Given the description of an element on the screen output the (x, y) to click on. 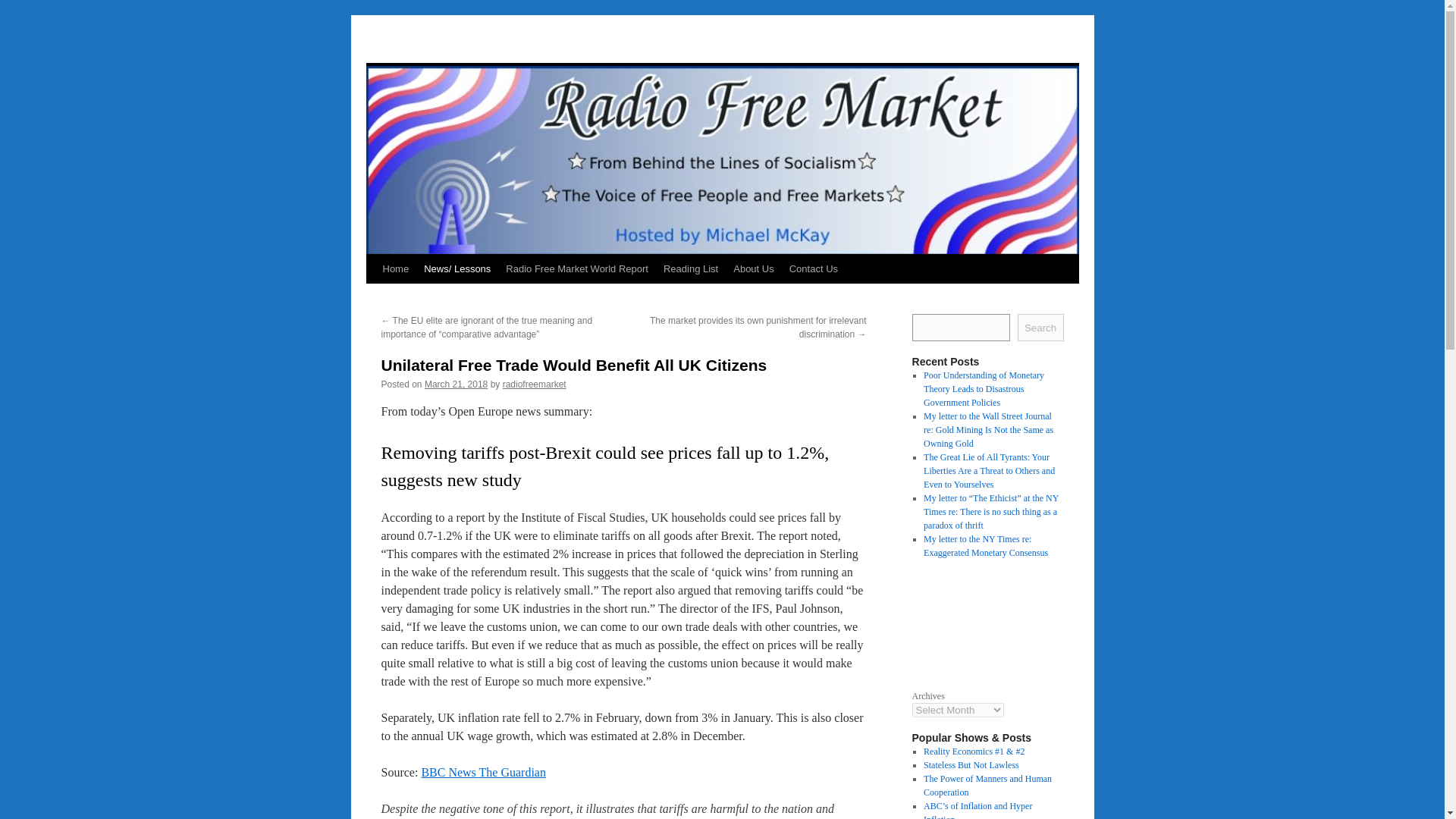
Stateless But Not Lawless (971, 765)
My letter to the NY Times re: Exaggerated Monetary Consensus (985, 545)
fb:page Facebook Social Plugin (986, 622)
March 21, 2018 (456, 384)
BBC News  (449, 771)
Search (1040, 327)
The Power of Manners and Human Cooperation (987, 785)
About Us (752, 268)
View all posts by radiofreemarket (534, 384)
Radio Free Market World Report (576, 268)
radiofreemarket (534, 384)
Contact Us (813, 268)
Reading List (690, 268)
